Given the description of an element on the screen output the (x, y) to click on. 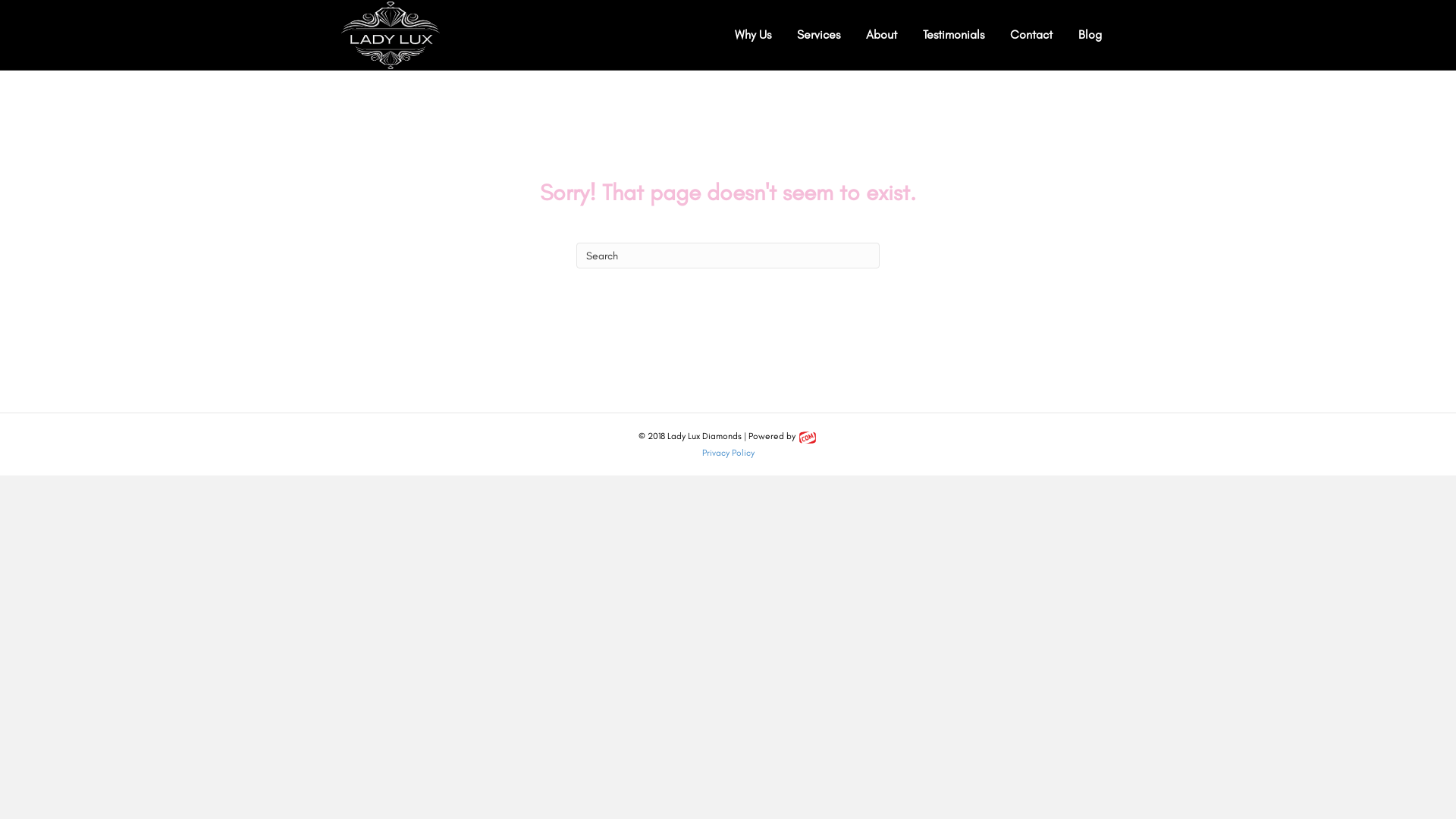
Blog Element type: text (1089, 34)
Testimonials Element type: text (953, 34)
About Element type: text (881, 34)
Contact Element type: text (1031, 34)
Type and press Enter to search. Element type: hover (727, 255)
Services Element type: text (818, 34)
Privacy Policy Element type: text (728, 452)
Why Us Element type: text (752, 34)
| Powered by Element type: text (779, 435)
